Given the description of an element on the screen output the (x, y) to click on. 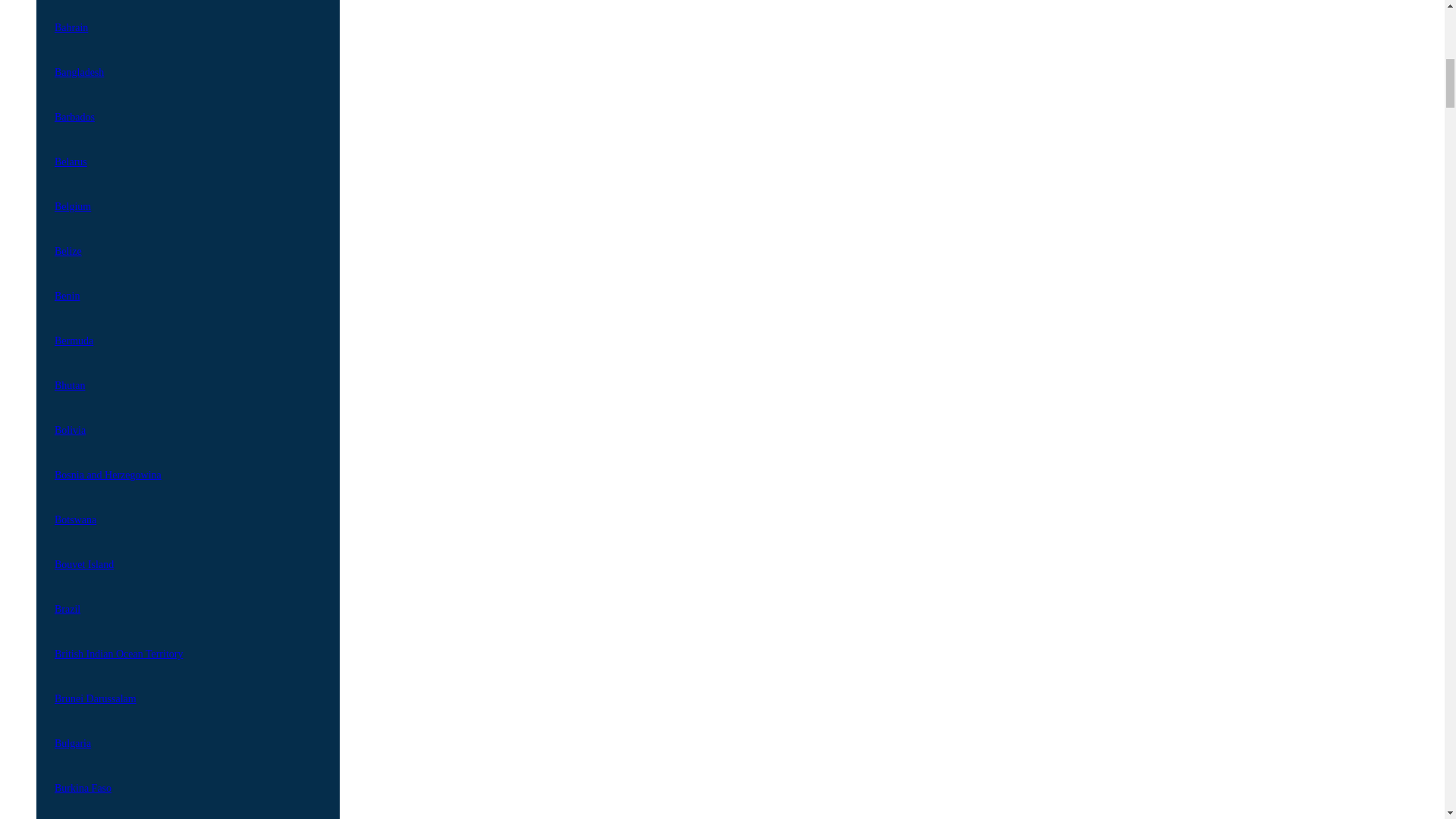
British Indian Ocean Territory (187, 644)
Belarus (187, 152)
Botswana (187, 510)
Bhutan (187, 375)
Bermuda (187, 331)
Burkina Faso (187, 778)
Burundi (187, 810)
Brunei Darussalam (187, 689)
Brazil (187, 600)
Bosnia and Herzegowina (187, 465)
